Given the description of an element on the screen output the (x, y) to click on. 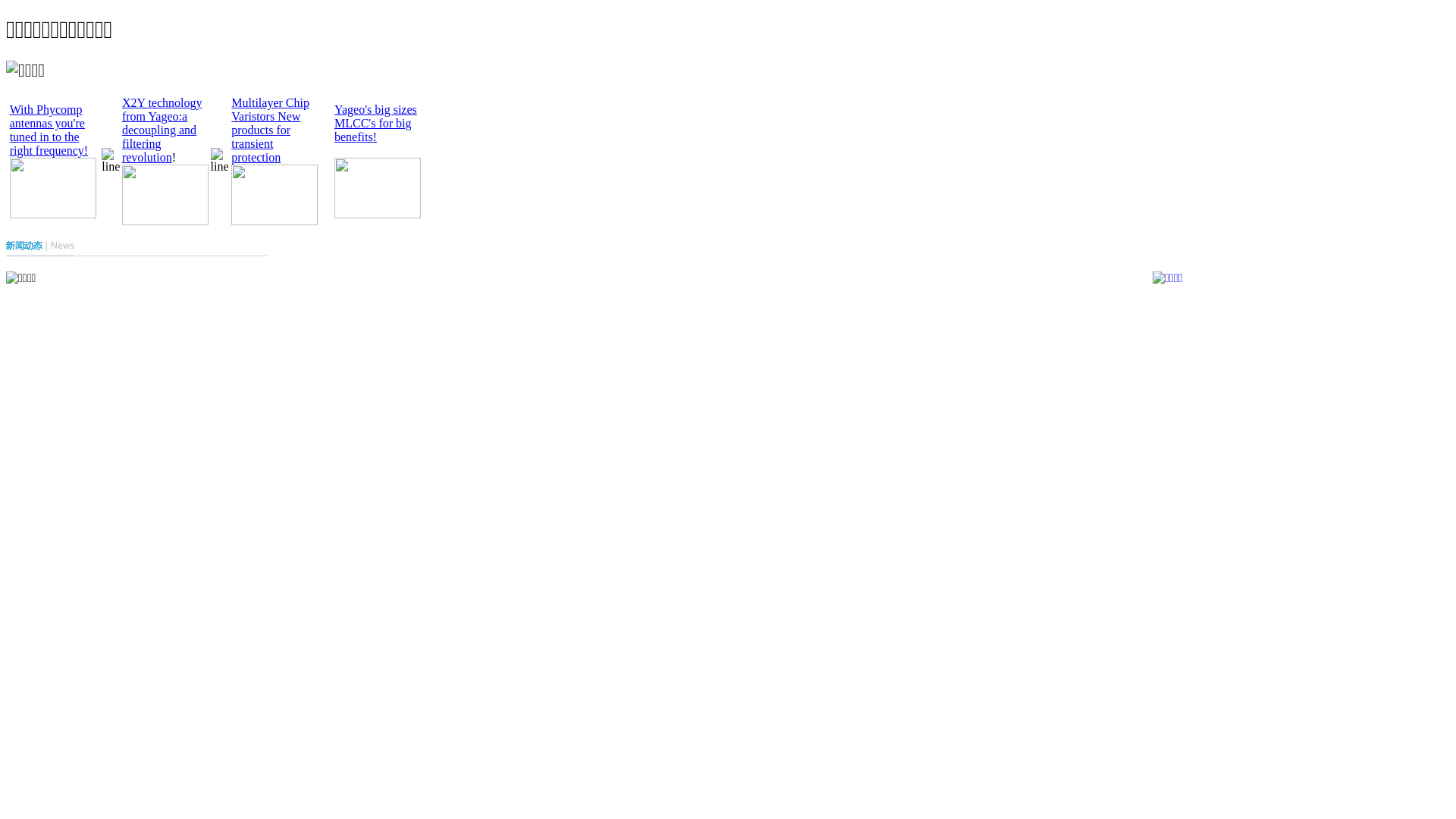
Yageo's big sizes MLCC's for big benefits! Element type: text (375, 123)
